Given the description of an element on the screen output the (x, y) to click on. 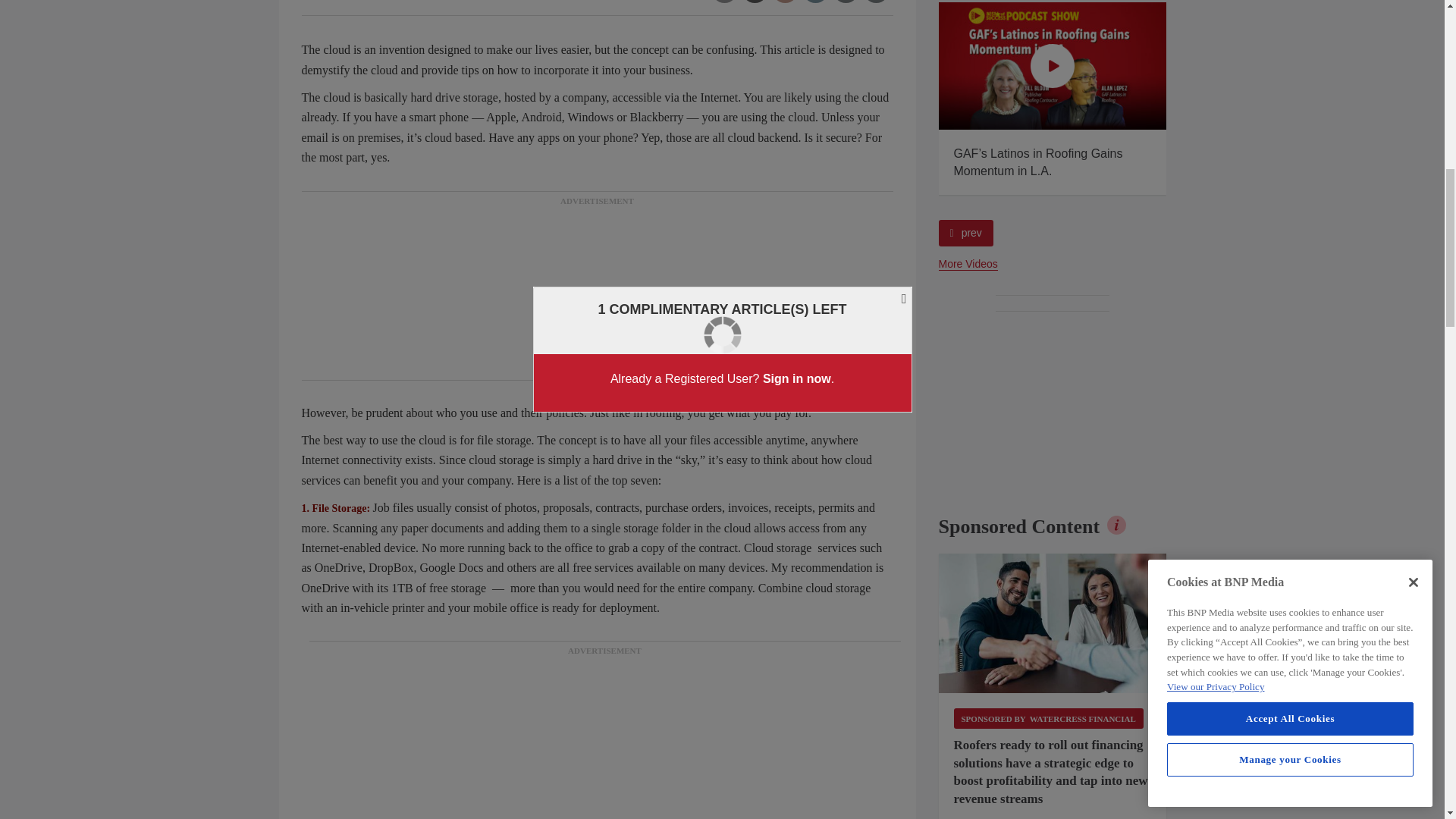
Sponsored by Watercress Financial (1047, 718)
The Roadmap to Success for Your Roofing Business (825, 65)
